Given the description of an element on the screen output the (x, y) to click on. 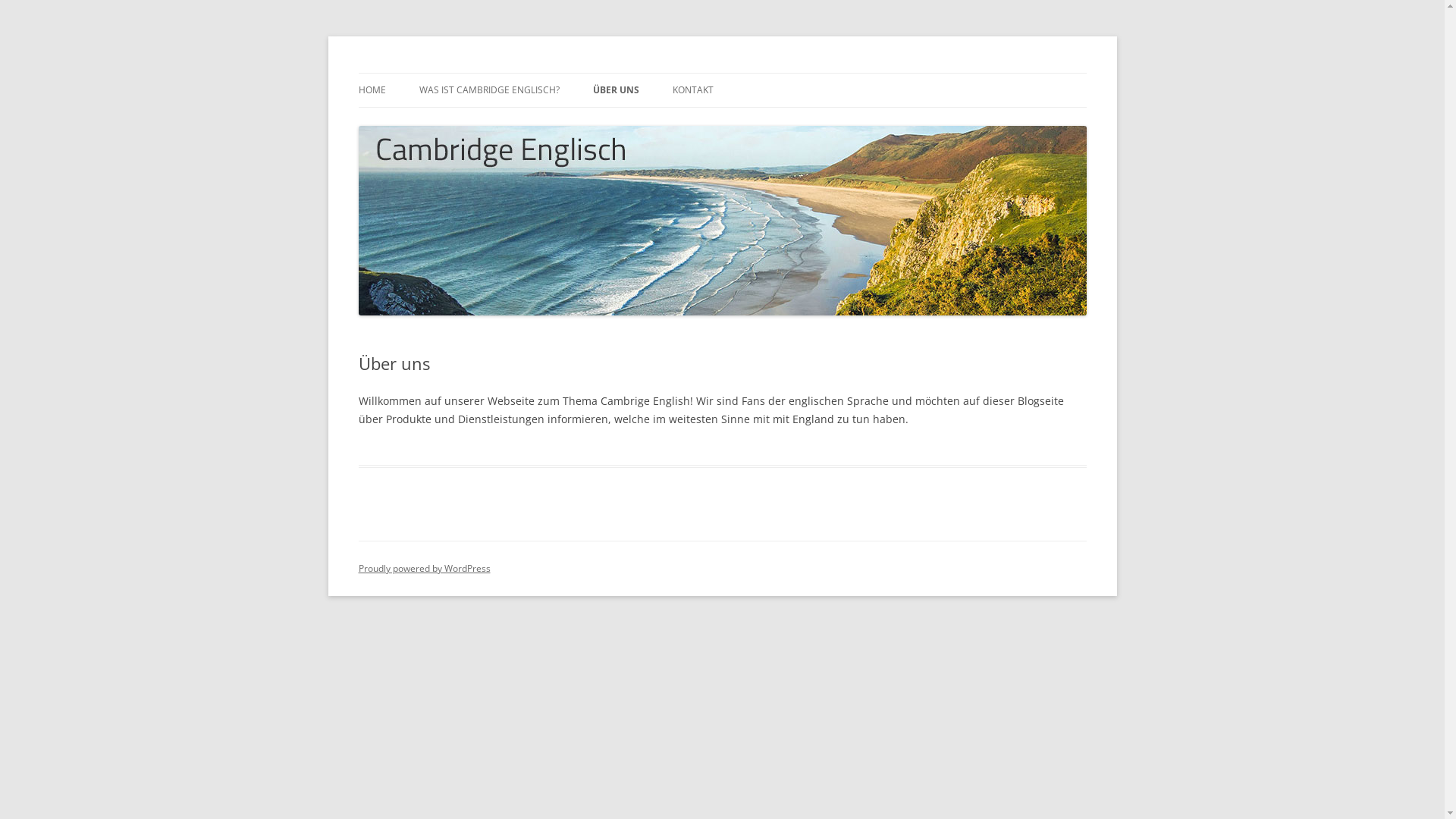
WAS IST CAMBRIDGE ENGLISCH? Element type: text (488, 89)
KONTAKT Element type: text (691, 89)
Proudly powered by WordPress Element type: text (423, 567)
HOME Element type: text (371, 89)
Skip to content Element type: text (721, 72)
cambridge english Element type: text (447, 72)
